Given the description of an element on the screen output the (x, y) to click on. 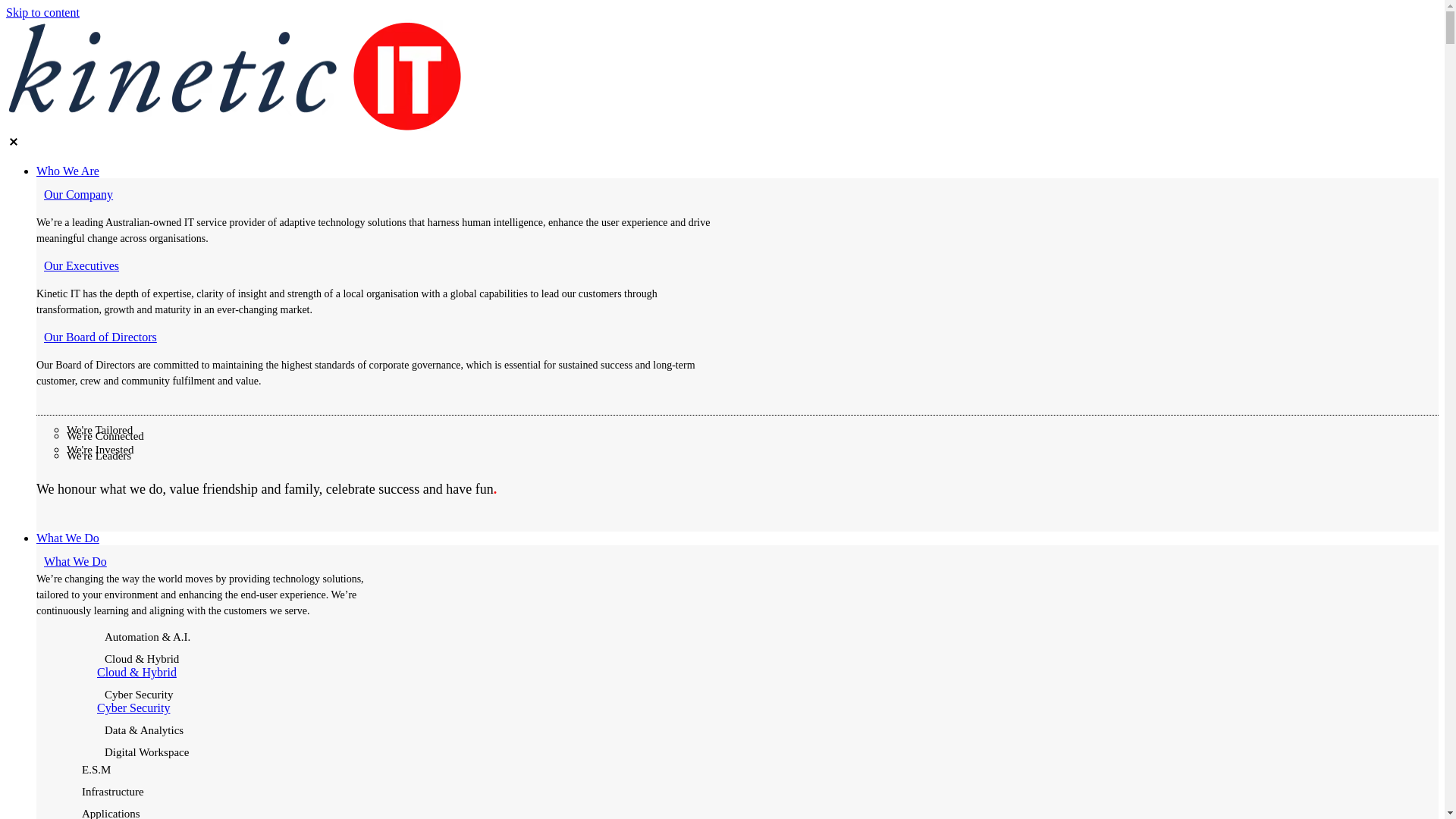
What We Do Element type: text (737, 538)
Our Executives Element type: text (377, 266)
Our Board of Directors Element type: text (377, 337)
Our Company Element type: text (377, 194)
Who We Are Element type: text (737, 171)
What We Do Element type: text (206, 561)
Skip to content Element type: text (42, 12)
Cloud & Hybrid Element type: text (136, 671)
Cyber Security Element type: text (133, 707)
